Given the description of an element on the screen output the (x, y) to click on. 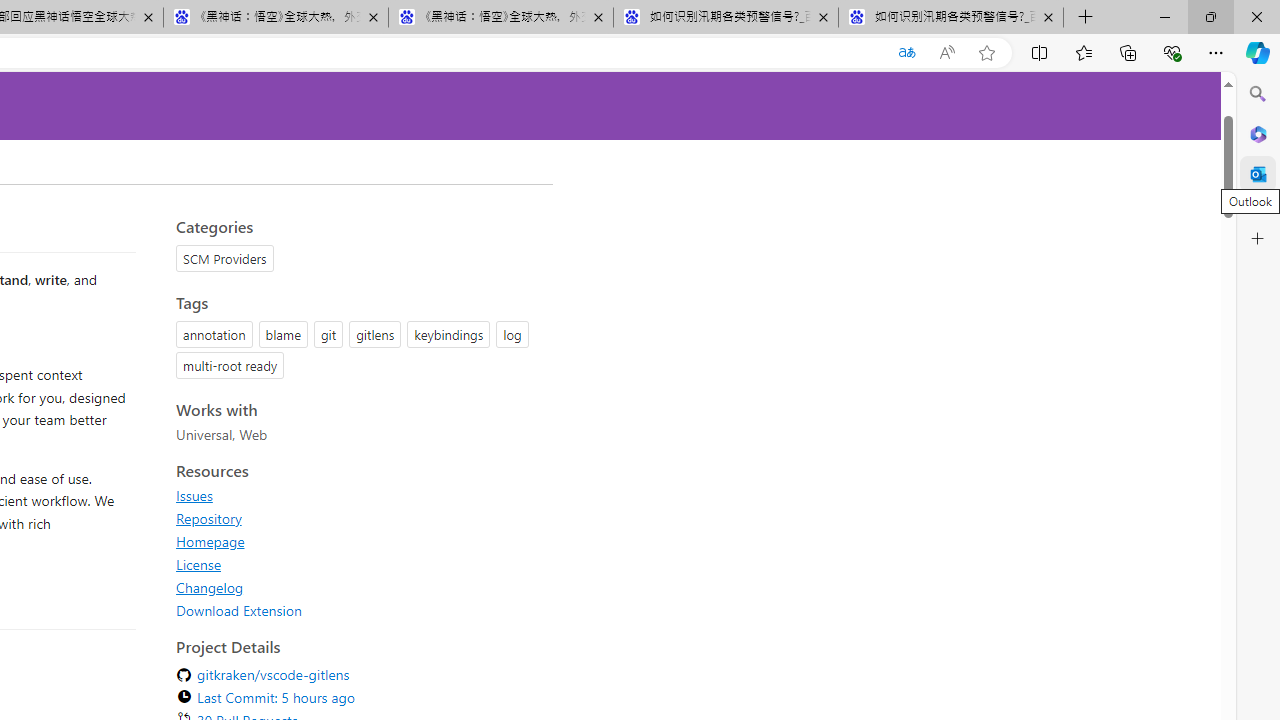
Repository (208, 518)
Download Extension (239, 610)
Repository (358, 518)
Issues (194, 495)
